Given the description of an element on the screen output the (x, y) to click on. 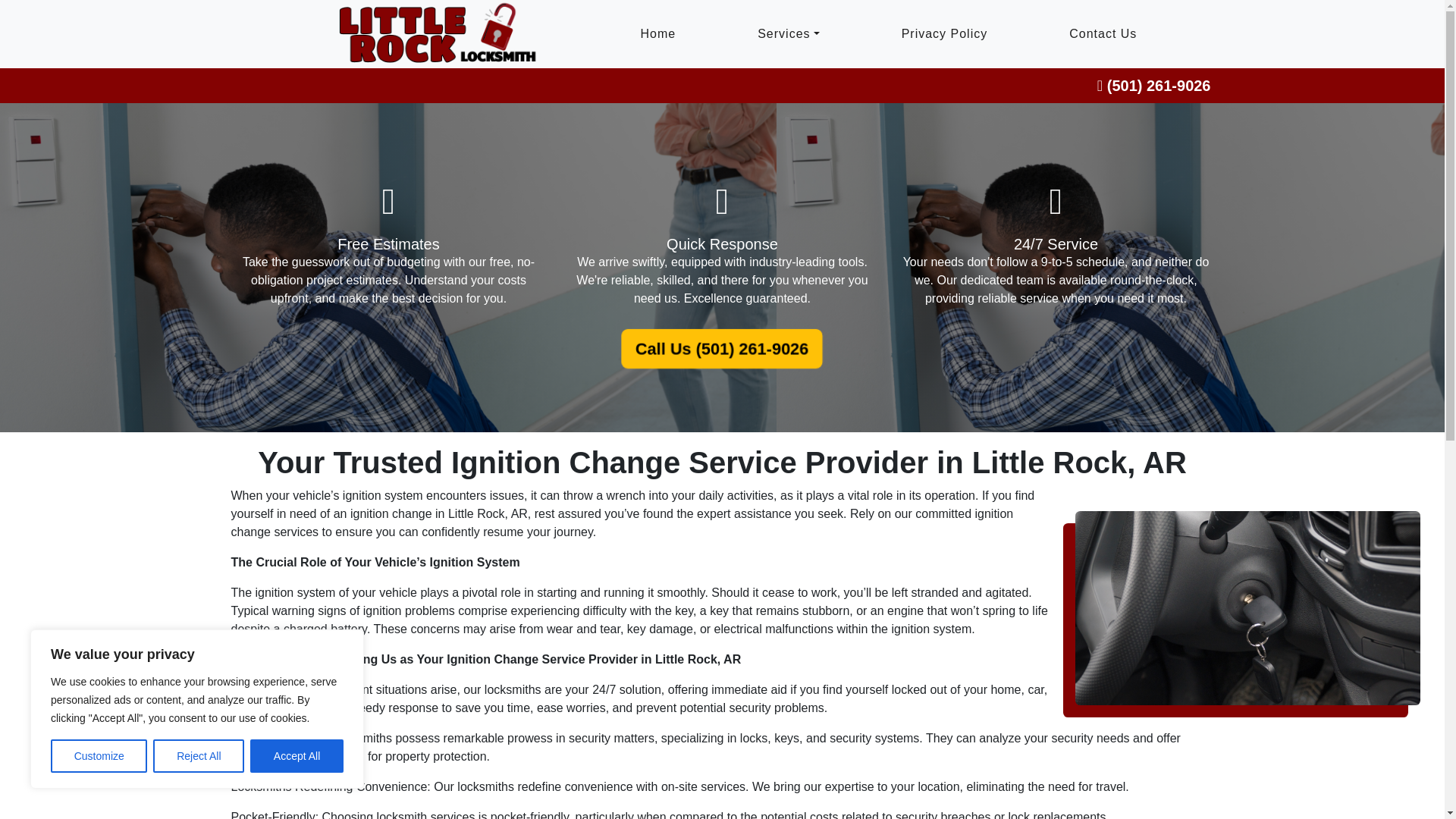
Home (657, 34)
Services (787, 34)
Reject All (198, 756)
Accept All (296, 756)
Customize (98, 756)
